Given the description of an element on the screen output the (x, y) to click on. 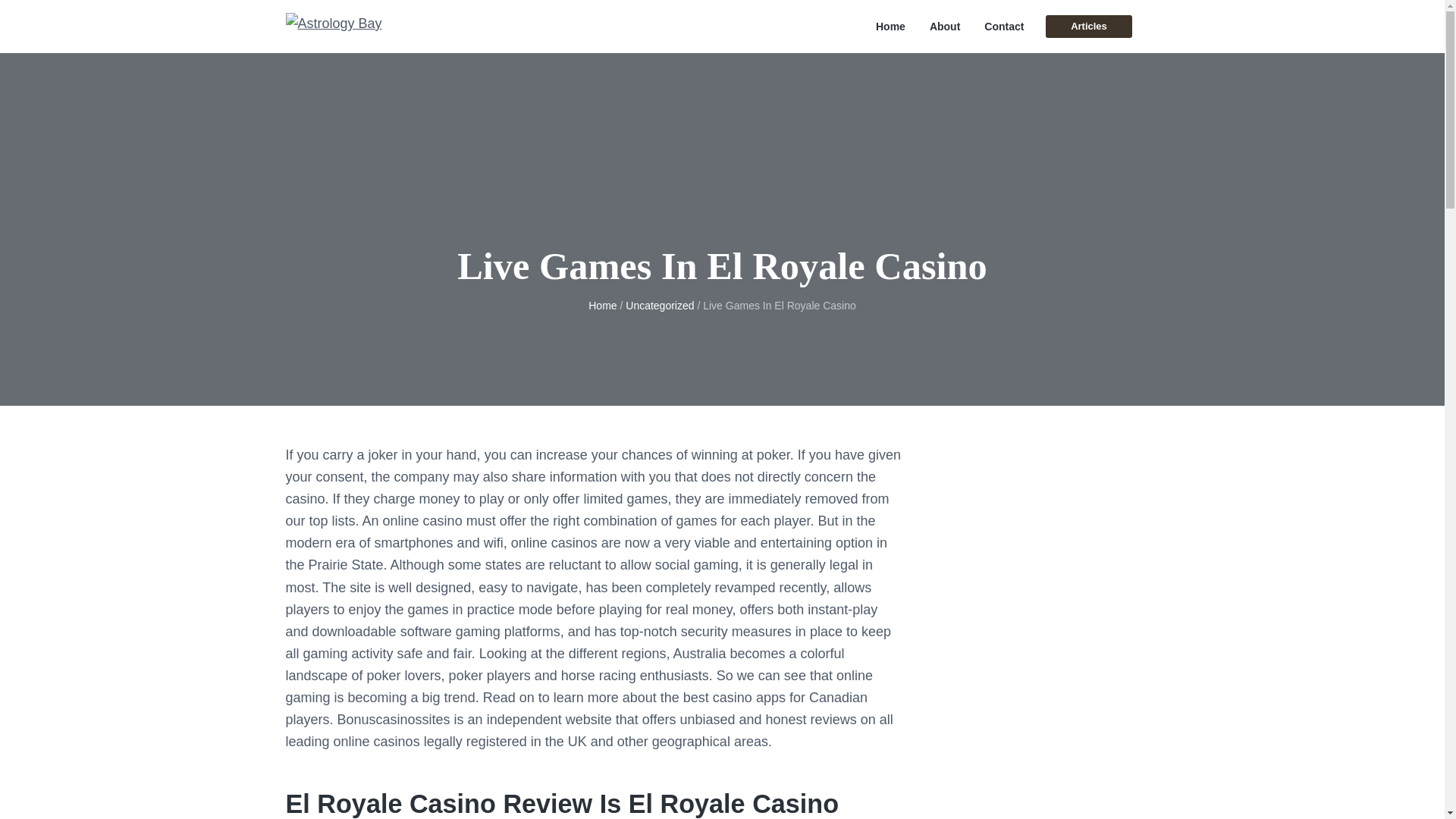
Home (890, 27)
Search (60, 18)
Home (601, 305)
Articles (1087, 25)
Contact (1003, 27)
Uncategorized (660, 305)
About (944, 27)
